Given the description of an element on the screen output the (x, y) to click on. 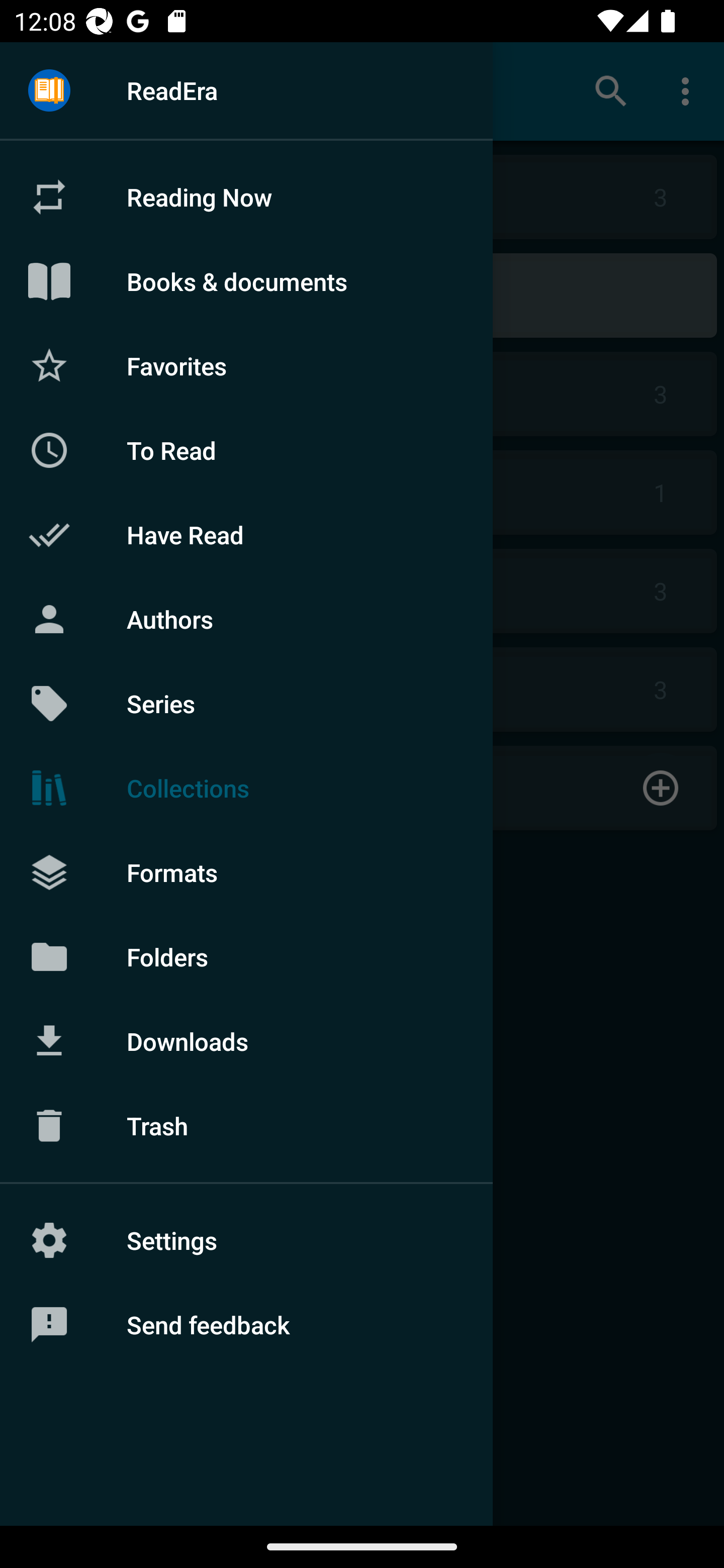
Menu (49, 91)
ReadEra (246, 89)
Search books & documents (611, 90)
More options (688, 90)
Reading Now (246, 197)
Books & documents (246, 281)
Favorites (246, 365)
To Read (246, 449)
Have Read (246, 534)
Authors (246, 619)
Series (246, 703)
Collections (246, 787)
Formats (246, 871)
Folders (246, 956)
Downloads (246, 1040)
Trash (246, 1125)
Settings (246, 1239)
Send feedback (246, 1324)
